Given the description of an element on the screen output the (x, y) to click on. 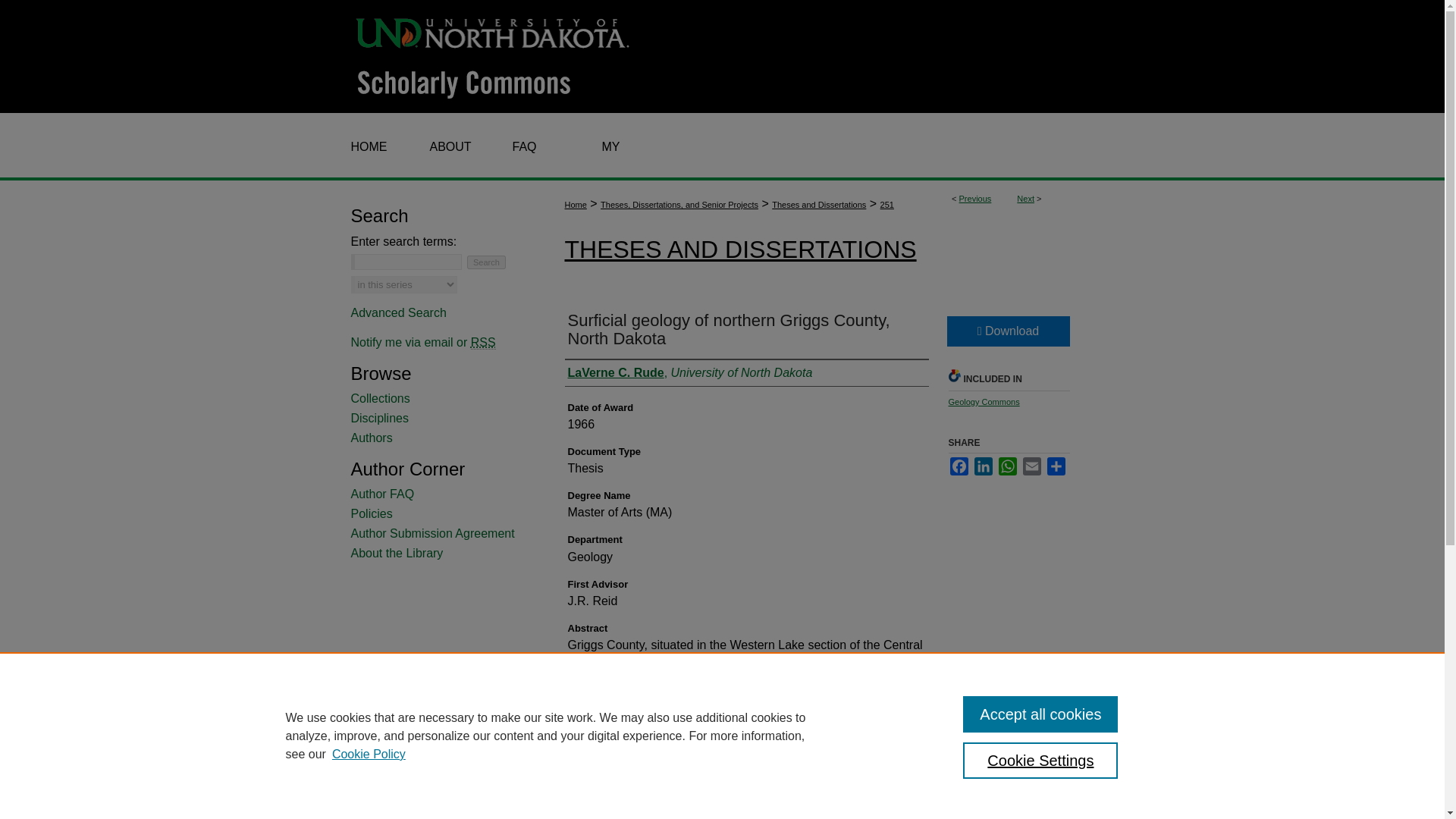
Home (575, 204)
WhatsApp (1006, 466)
Facebook (958, 466)
Geology Commons (983, 401)
Email (1031, 466)
LaVerne C. Rude, University of North Dakota (689, 373)
University of North Dakota (492, 31)
FAQ (520, 146)
Share (1055, 466)
Collections (441, 398)
About (444, 146)
Search (486, 262)
LinkedIn (982, 466)
Advanced Search (397, 312)
Authors (441, 438)
